Given the description of an element on the screen output the (x, y) to click on. 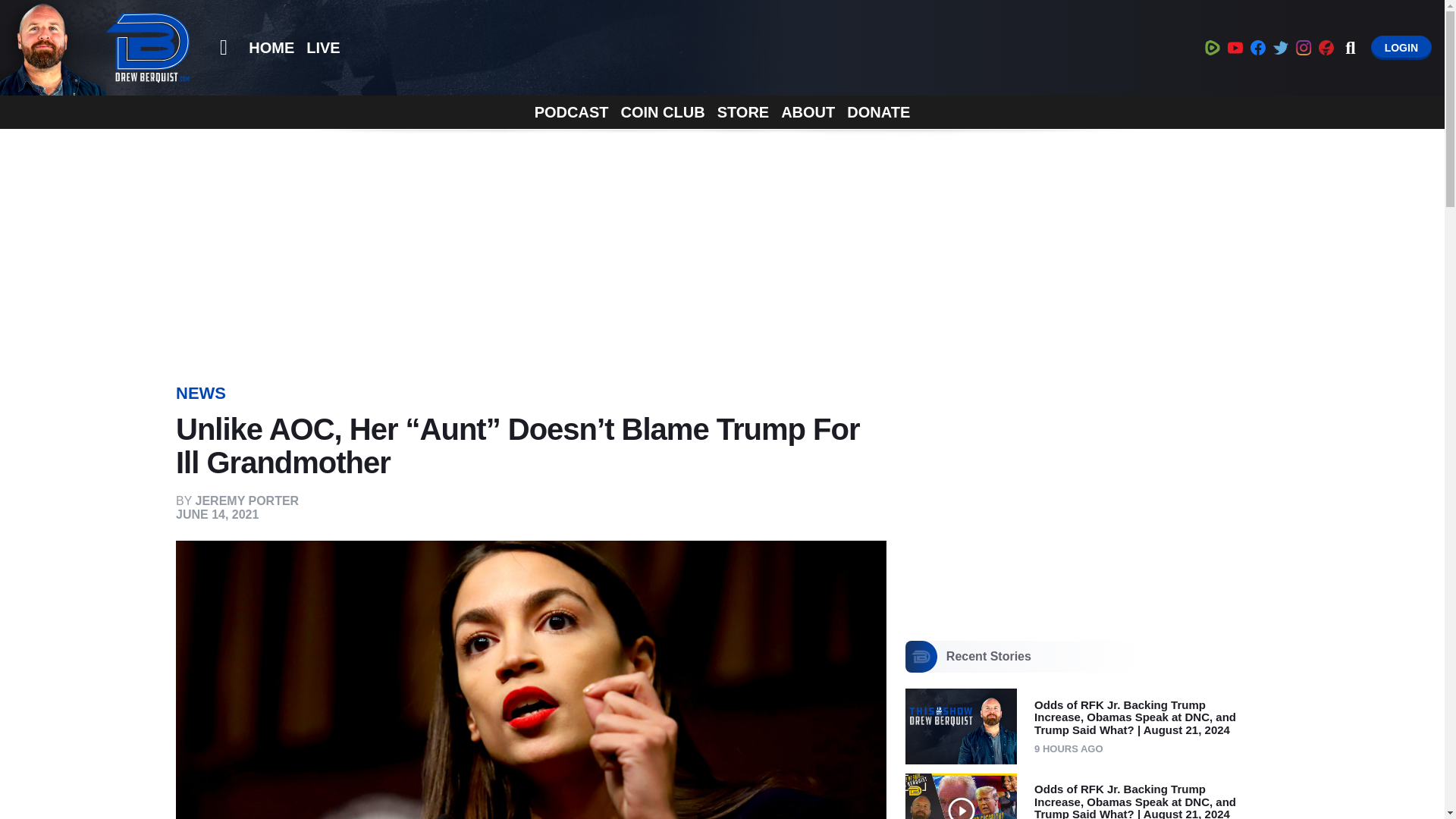
Facebook (1257, 47)
Instagram (1303, 47)
HOME (271, 47)
JEREMY PORTER (247, 500)
LIVE (322, 47)
YouTube (1235, 47)
Rumble (1212, 47)
COIN CLUB (662, 111)
Posts by Jeremy Porter (247, 500)
